Given the description of an element on the screen output the (x, y) to click on. 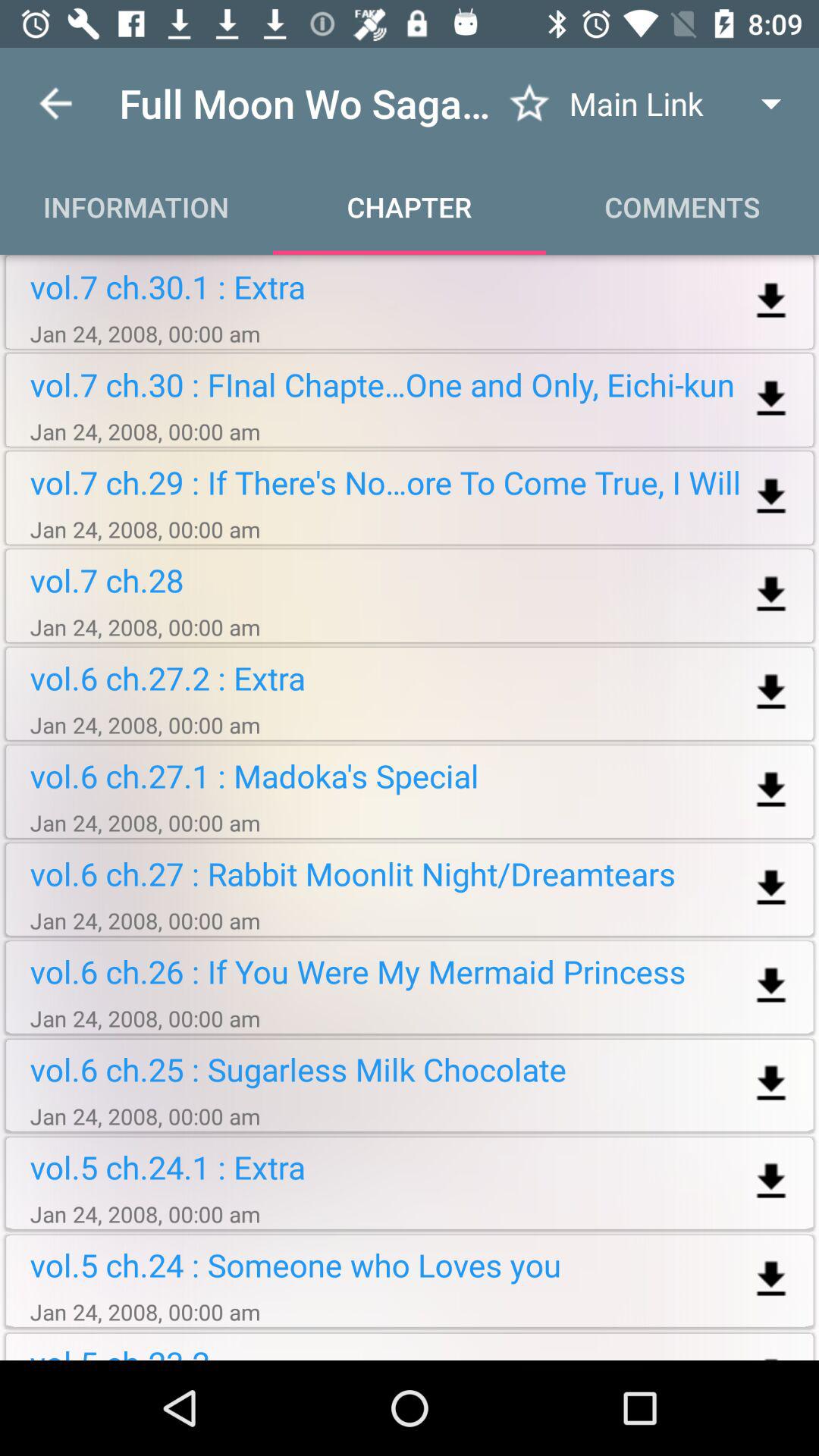
save as favorite (529, 103)
